Given the description of an element on the screen output the (x, y) to click on. 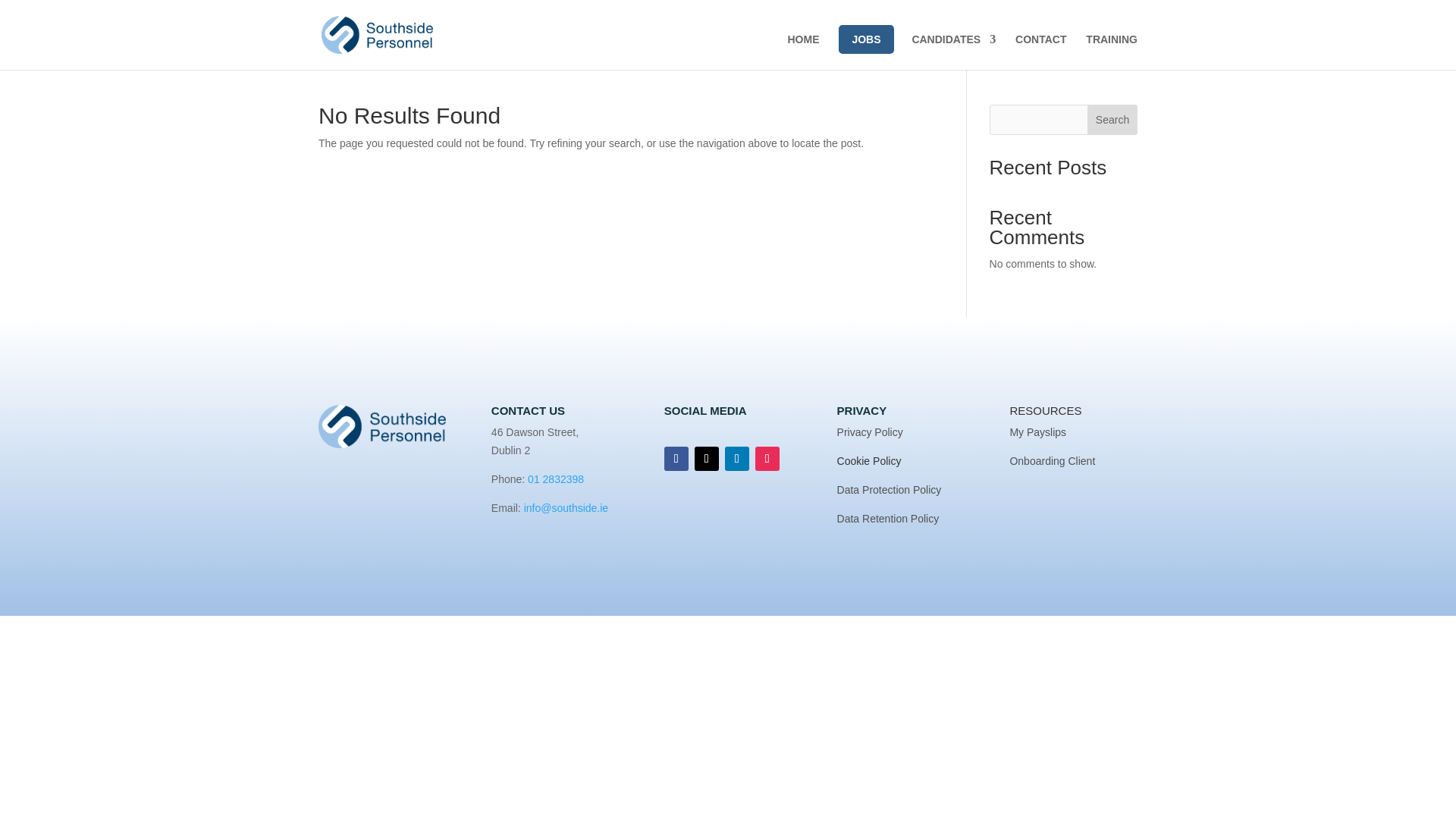
CANDIDATES (953, 51)
Cookie Policy (869, 460)
Onboarding Client (1051, 460)
01 2832398 (553, 479)
JOBS (865, 39)
Follow on Facebook (675, 458)
TRAINING (1111, 51)
Privacy Policy (869, 431)
Data Protection Policy (889, 490)
Search (1112, 119)
